Given the description of an element on the screen output the (x, y) to click on. 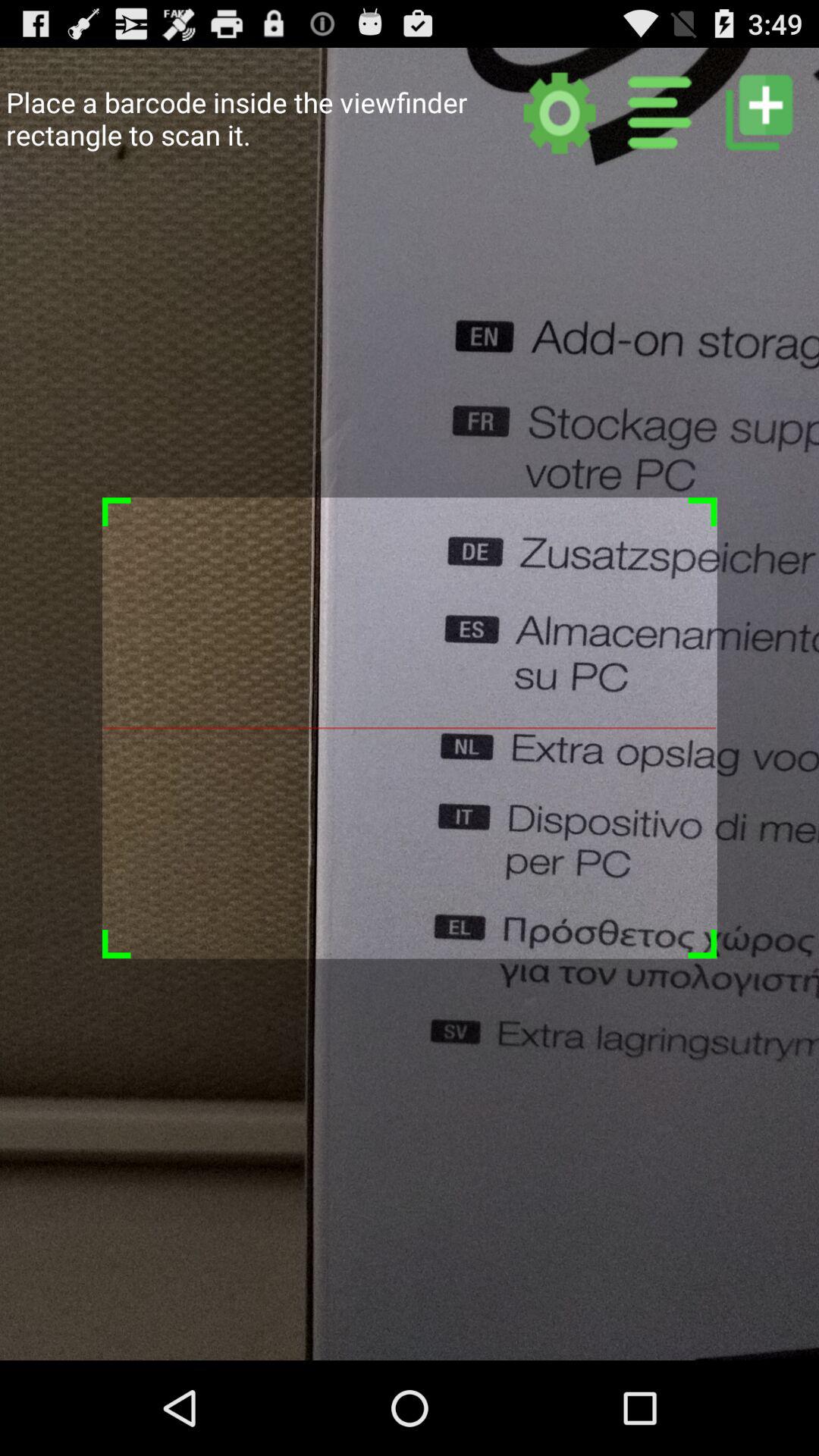
open settings (560, 112)
